Given the description of an element on the screen output the (x, y) to click on. 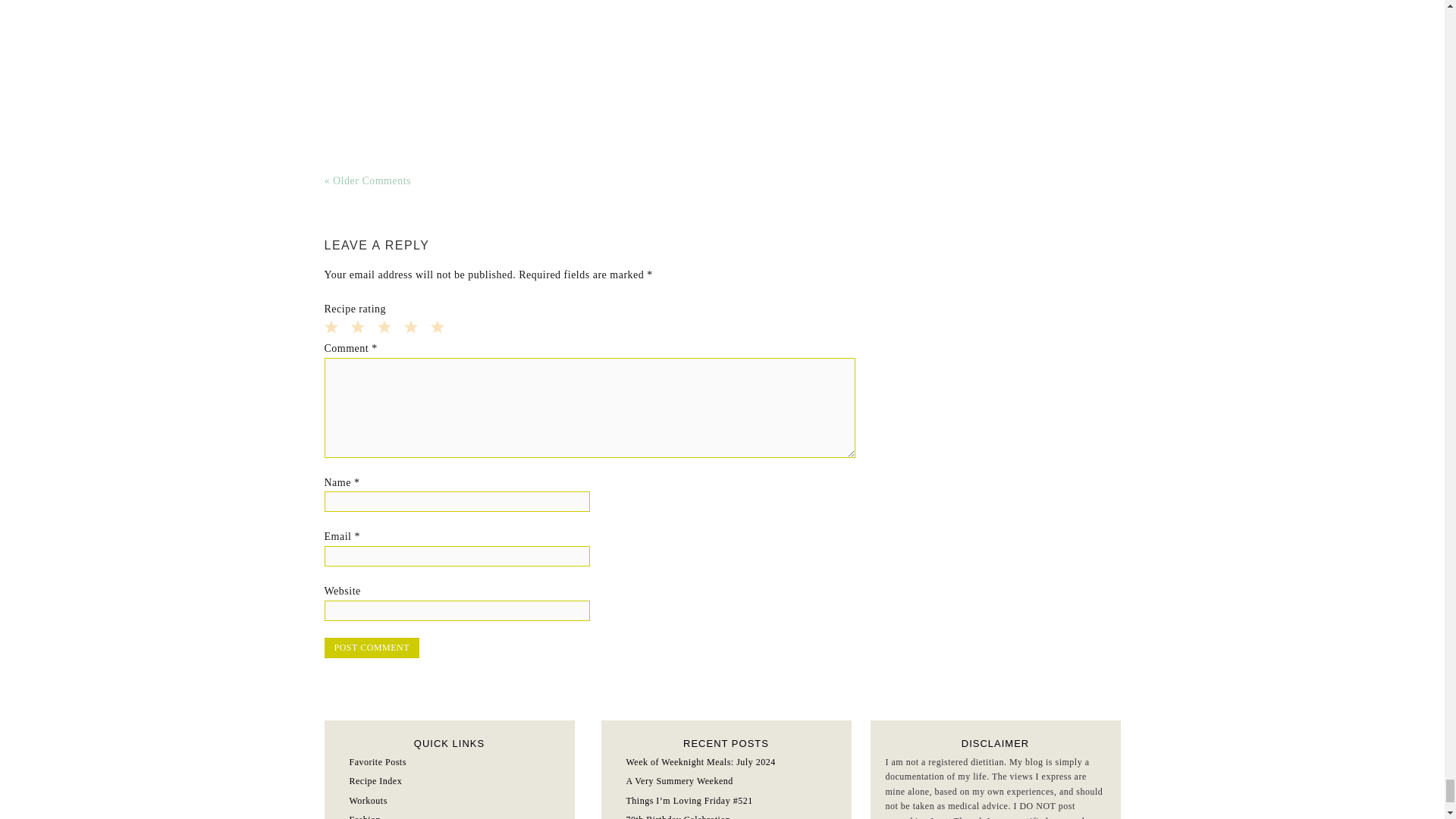
Post Comment (371, 648)
